Given the description of an element on the screen output the (x, y) to click on. 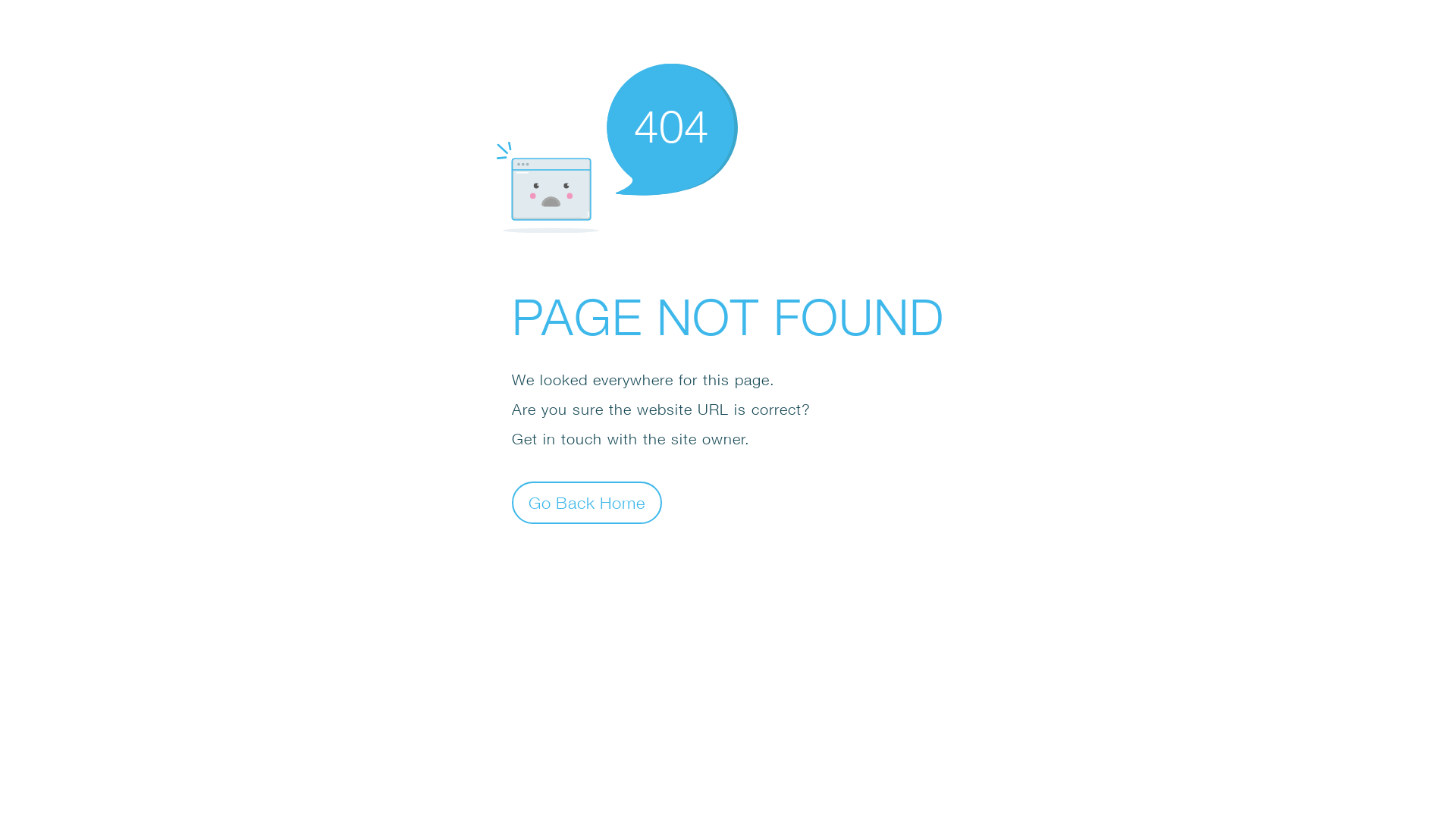
Go Back Home Element type: text (586, 502)
